Given the description of an element on the screen output the (x, y) to click on. 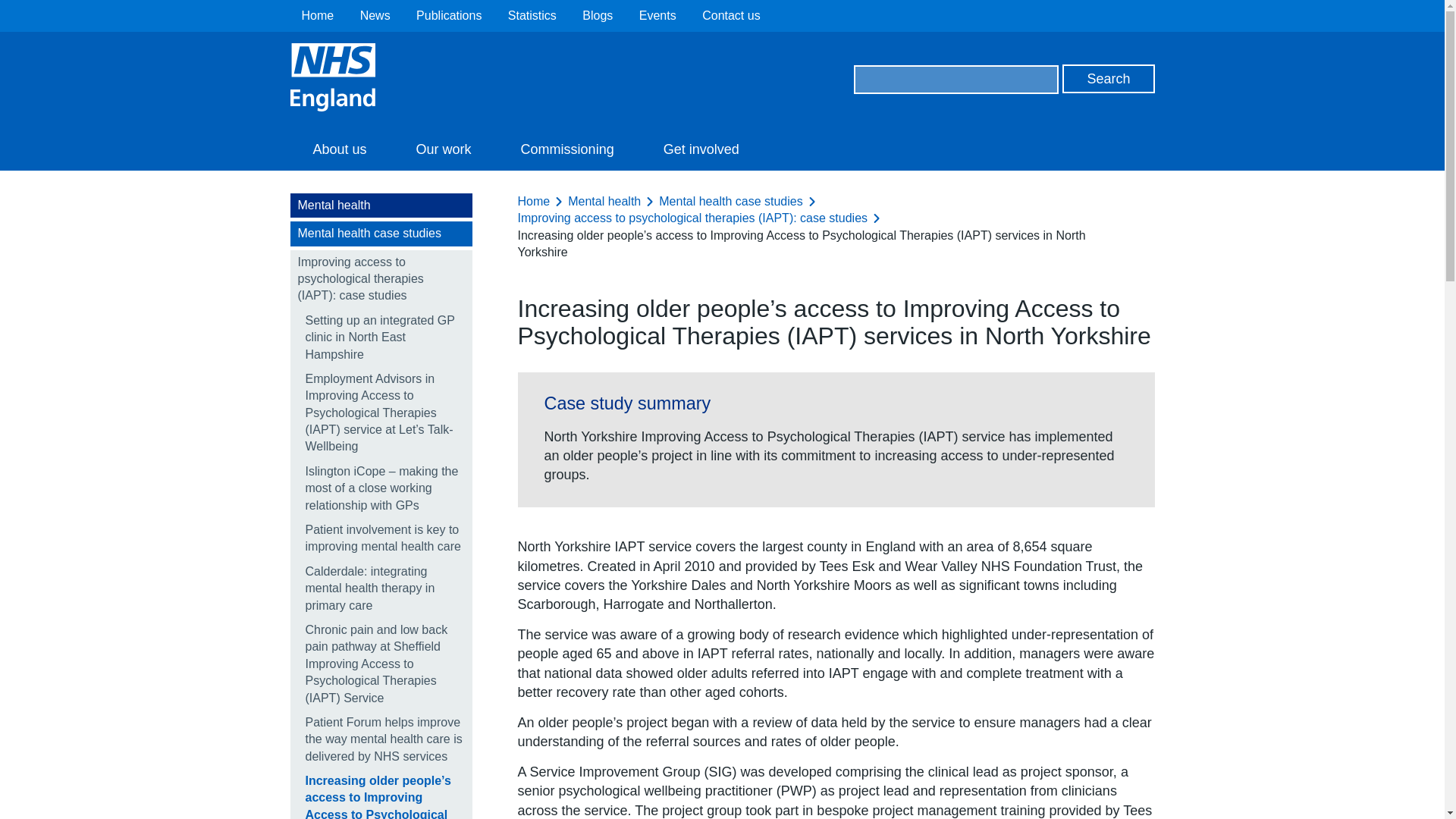
Get involved (700, 149)
Search (1108, 78)
News (374, 15)
News (374, 15)
Home (317, 15)
Patient involvement is key to improving mental health care (380, 538)
Our work (444, 149)
Get involved (700, 149)
Blogs (597, 15)
Search (1108, 78)
Publications (448, 15)
Commissioning (567, 149)
Statistics (532, 15)
Mental health (380, 205)
